Given the description of an element on the screen output the (x, y) to click on. 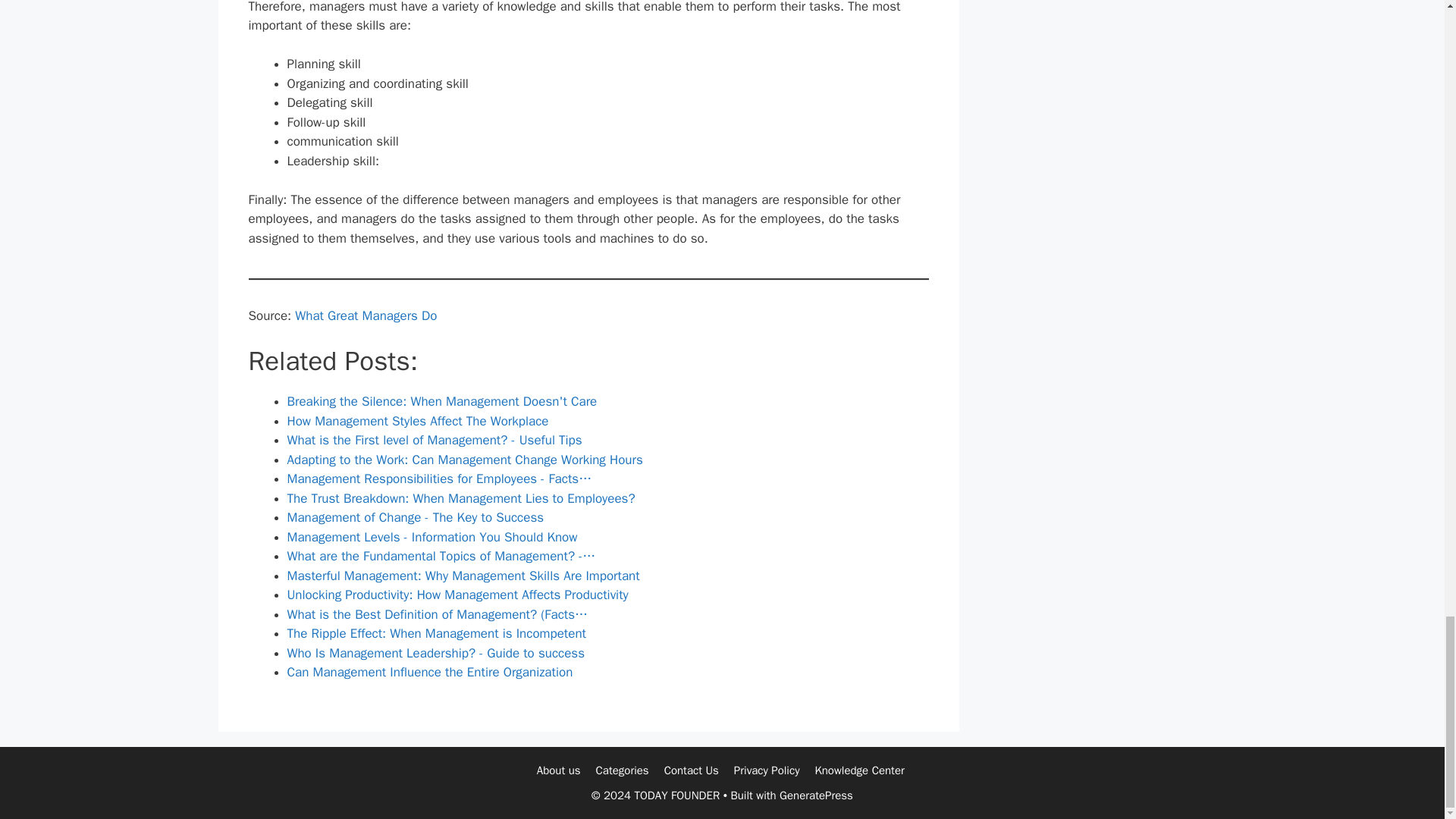
Unlocking Productivity: How Management Affects Productivity (456, 594)
Masterful Management: Why Management Skills Are Important (462, 575)
Management Levels - Information You Should Know (431, 537)
What Great Managers Do (365, 315)
The Trust Breakdown: When Management Lies to Employees? (460, 498)
How Management Styles Affect The Workplace (417, 421)
Management of Change - The Key to Success (414, 517)
Can Management Influence the Entire Organization (429, 672)
Breaking the Silence: When Management Doesn't Care (441, 401)
Who Is Management Leadership? - Guide to success (435, 652)
The Ripple Effect: When Management is Incompetent (436, 633)
Adapting to the Work: Can Management Change Working Hours (464, 459)
What is the First level of Management? - Useful Tips (433, 439)
